Given the description of an element on the screen output the (x, y) to click on. 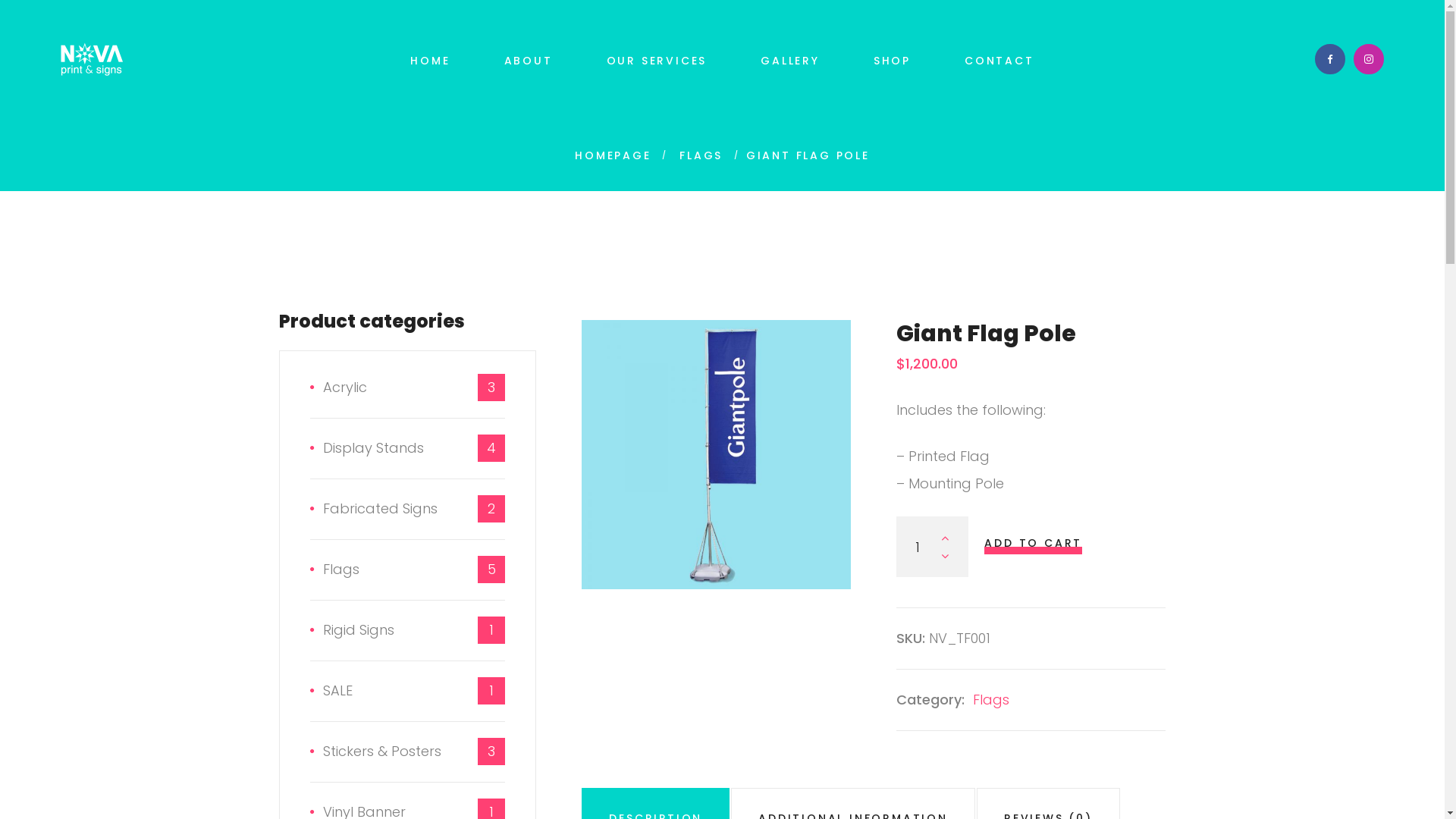
Qty Element type: hover (932, 546)
ADD TO CART Element type: text (1033, 542)
SHOP Element type: text (891, 60)
Flags Element type: text (990, 699)
FLAGS Element type: text (700, 155)
GALLERY Element type: text (789, 60)
OUR SERVICES Element type: text (656, 60)
Display Stands Element type: text (366, 447)
ABOUT Element type: text (528, 60)
Product_giantpole_01 Element type: hover (715, 454)
Acrylic Element type: text (337, 387)
HOME Element type: text (429, 60)
CONTACT Element type: text (999, 60)
Rigid Signs Element type: text (351, 629)
Fabricated Signs Element type: text (372, 508)
SALE Element type: text (330, 690)
Stickers & Posters Element type: text (374, 751)
HOMEPAGE Element type: text (612, 155)
Flags Element type: text (333, 569)
